Given the description of an element on the screen output the (x, y) to click on. 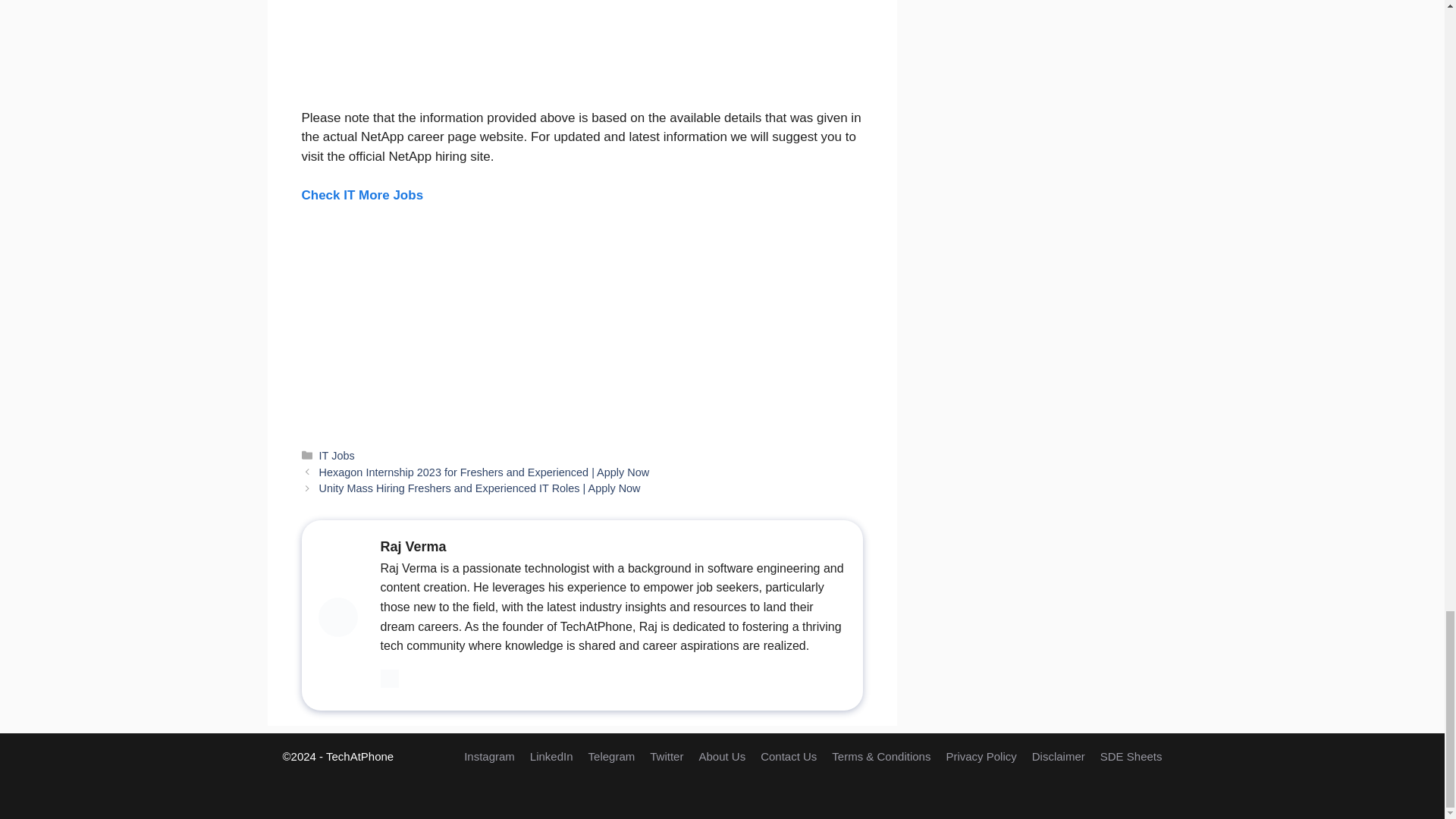
Check IT More Jobs (362, 195)
IT Jobs (336, 455)
